Given the description of an element on the screen output the (x, y) to click on. 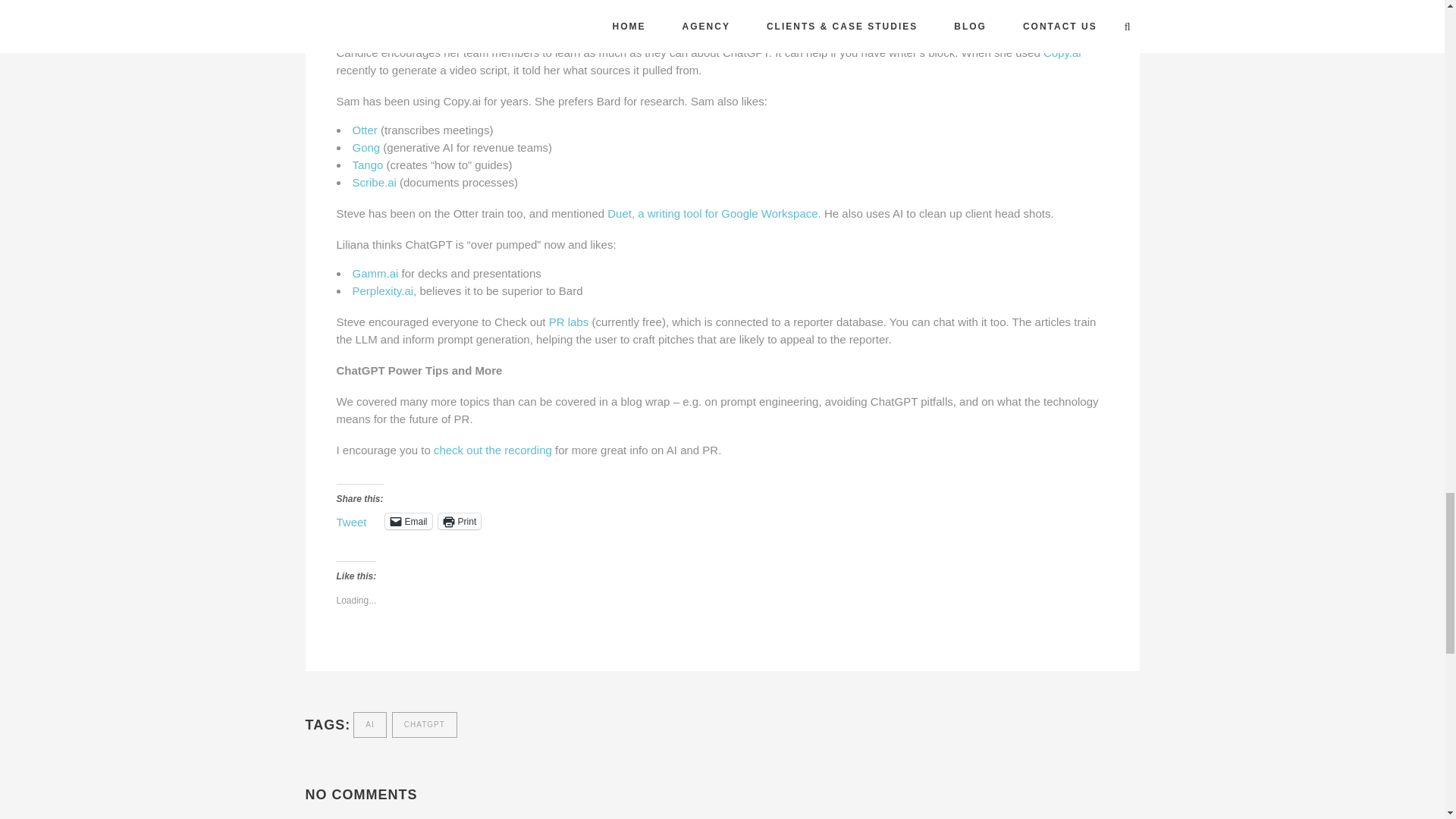
Click to print (459, 521)
Copy.ai (1062, 51)
Click to email a link to a friend (408, 521)
Otter (364, 128)
